Given the description of an element on the screen output the (x, y) to click on. 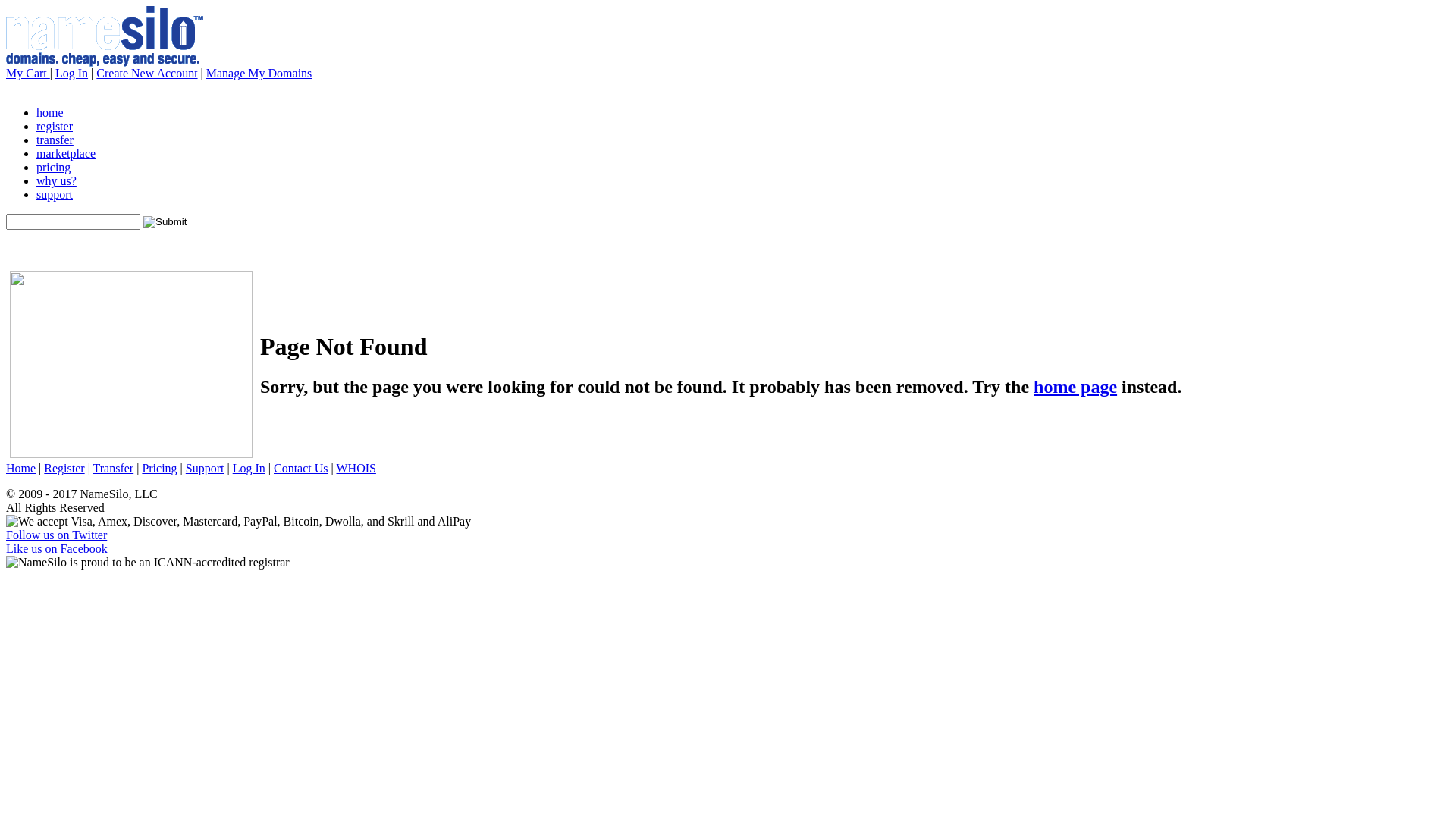
Follow us on Twitter Element type: text (56, 534)
My Cart Element type: text (28, 72)
Log In Element type: text (248, 467)
Home Element type: text (20, 467)
register Element type: text (54, 125)
transfer Element type: text (54, 139)
Contact Us Element type: text (300, 467)
WHOIS Element type: text (355, 467)
pricing Element type: text (53, 166)
Manage My Domains Element type: text (259, 72)
Pricing Element type: text (158, 467)
marketplace Element type: text (65, 153)
Register Element type: text (63, 467)
Support Element type: text (204, 467)
home page Element type: text (1075, 386)
Transfer Element type: text (113, 467)
why us? Element type: text (56, 180)
home Element type: text (49, 112)
Like us on Facebook Element type: text (56, 548)
support Element type: text (54, 194)
NameSilo is proud to be an ICANN-accredited registrar Element type: hover (147, 562)
Log In Element type: text (71, 72)
Create New Account Element type: text (146, 72)
